Given the description of an element on the screen output the (x, y) to click on. 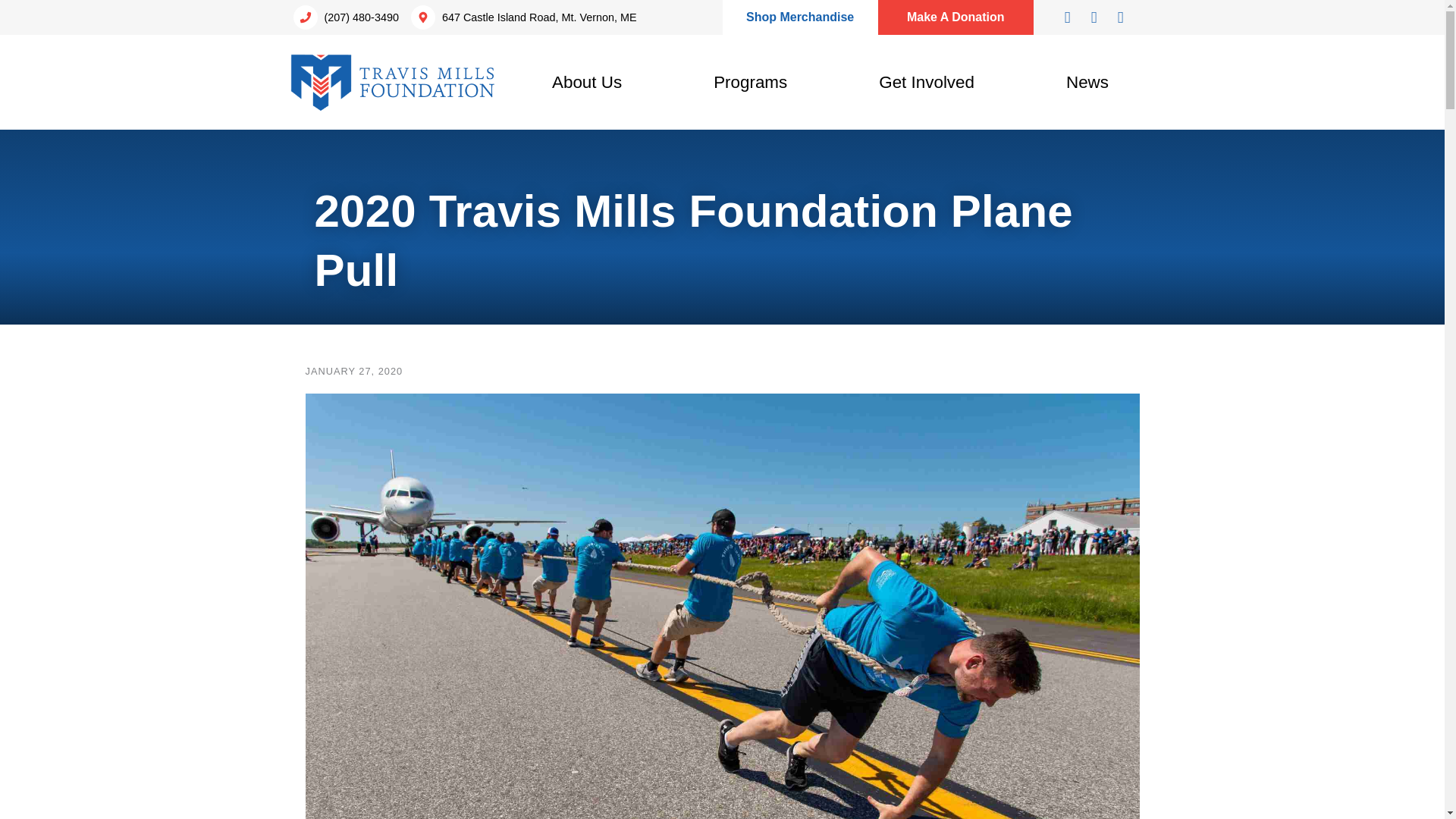
647 Castle Island Road, Mt. Vernon, ME (522, 16)
Make A Donation (955, 17)
About Us (587, 82)
Linkedin (1120, 17)
Programs (750, 82)
Instagram (1094, 17)
News (1087, 82)
Facebook (1067, 17)
Get Involved (926, 82)
Shop Merchandise (799, 17)
